Given the description of an element on the screen output the (x, y) to click on. 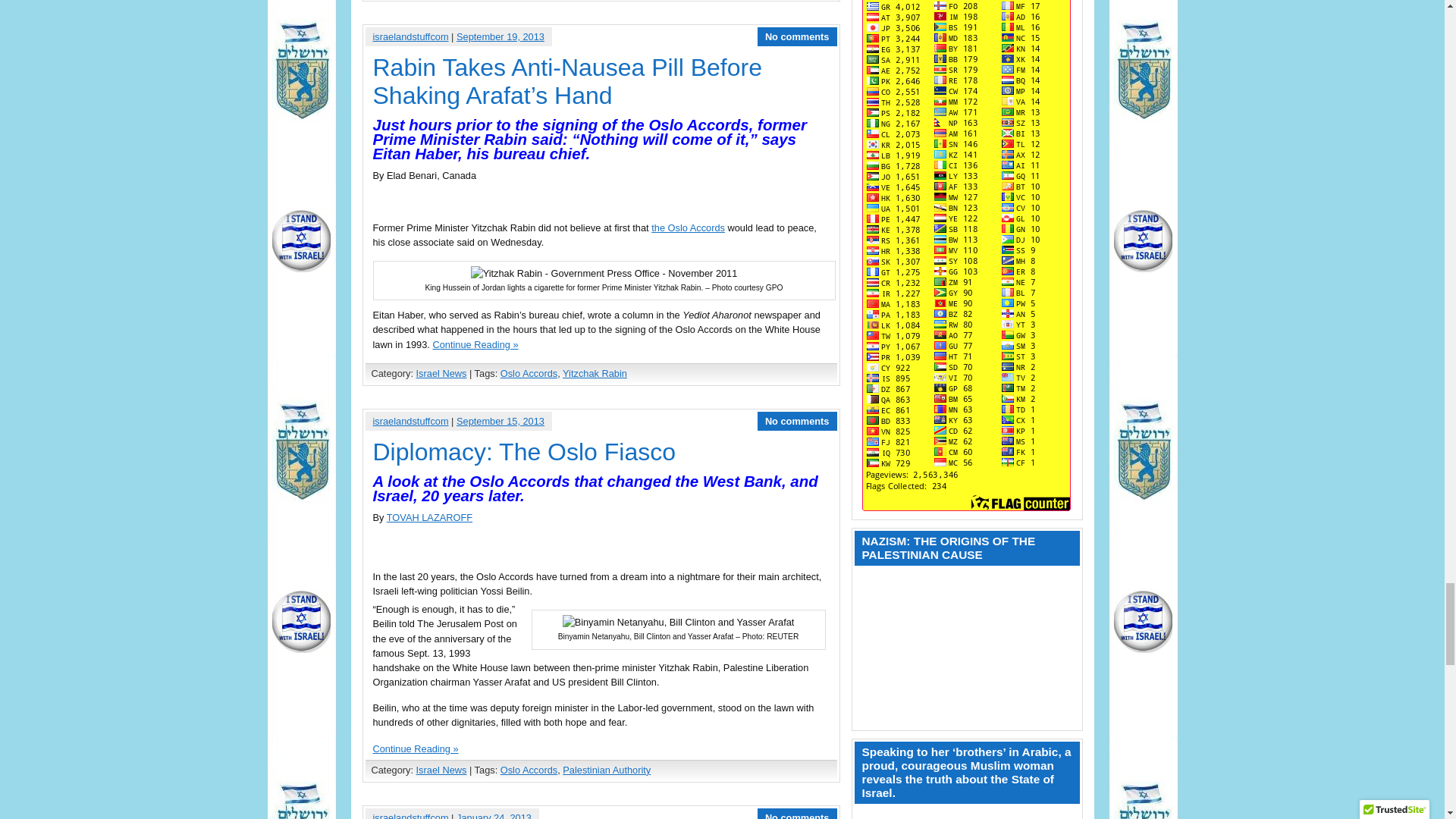
Posts by israelandstuffcom (410, 36)
